Given the description of an element on the screen output the (x, y) to click on. 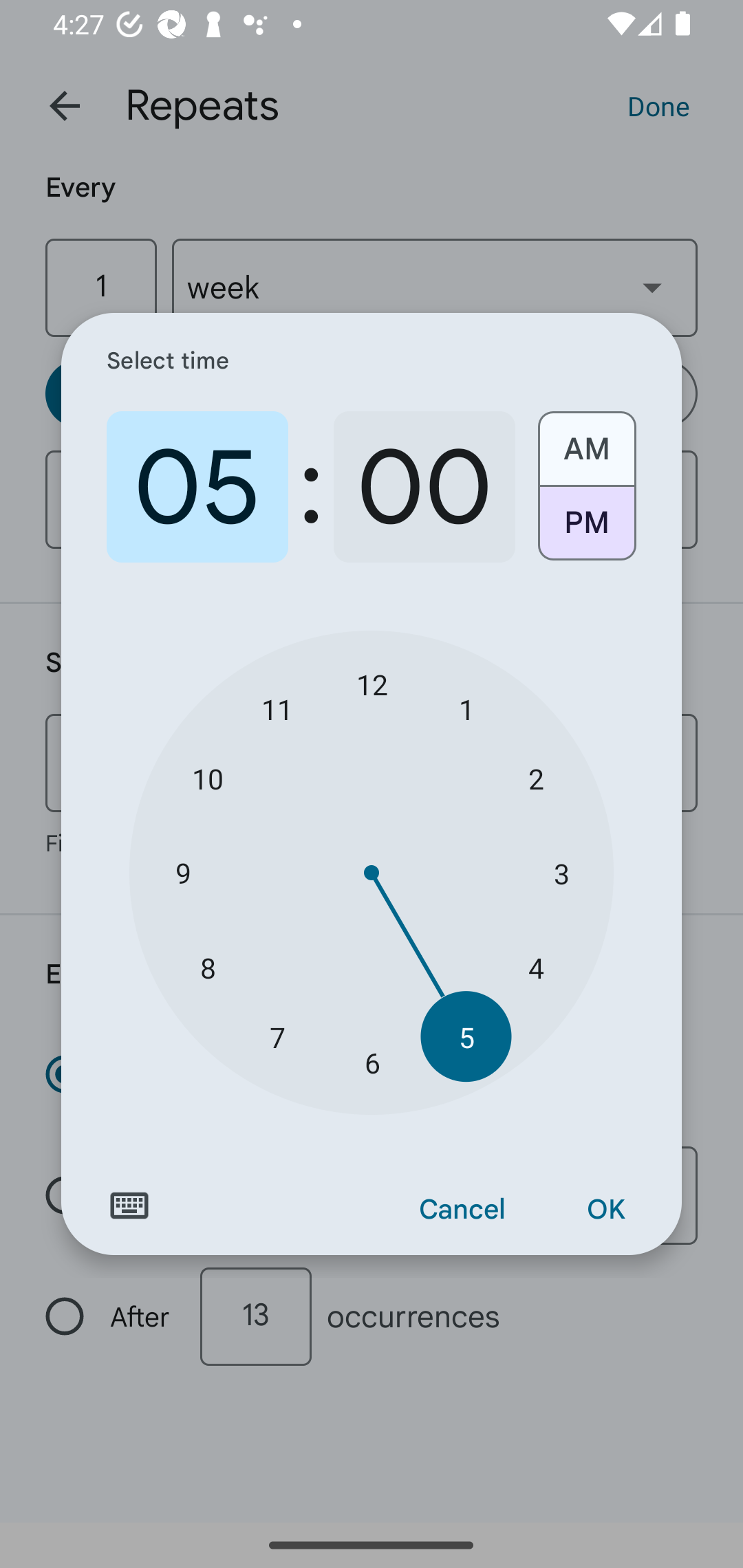
AM (586, 441)
05 5 o'clock (197, 486)
00 0 minutes (424, 486)
PM (586, 529)
12 12 o'clock (371, 683)
11 11 o'clock (276, 708)
1 1 o'clock (466, 708)
10 10 o'clock (207, 778)
2 2 o'clock (535, 778)
9 9 o'clock (182, 872)
3 3 o'clock (561, 872)
8 8 o'clock (207, 966)
4 4 o'clock (535, 966)
7 7 o'clock (276, 1035)
5 5 o'clock (466, 1035)
6 6 o'clock (371, 1062)
Switch to text input mode for the time input. (128, 1205)
Cancel (462, 1209)
OK (605, 1209)
